Given the description of an element on the screen output the (x, y) to click on. 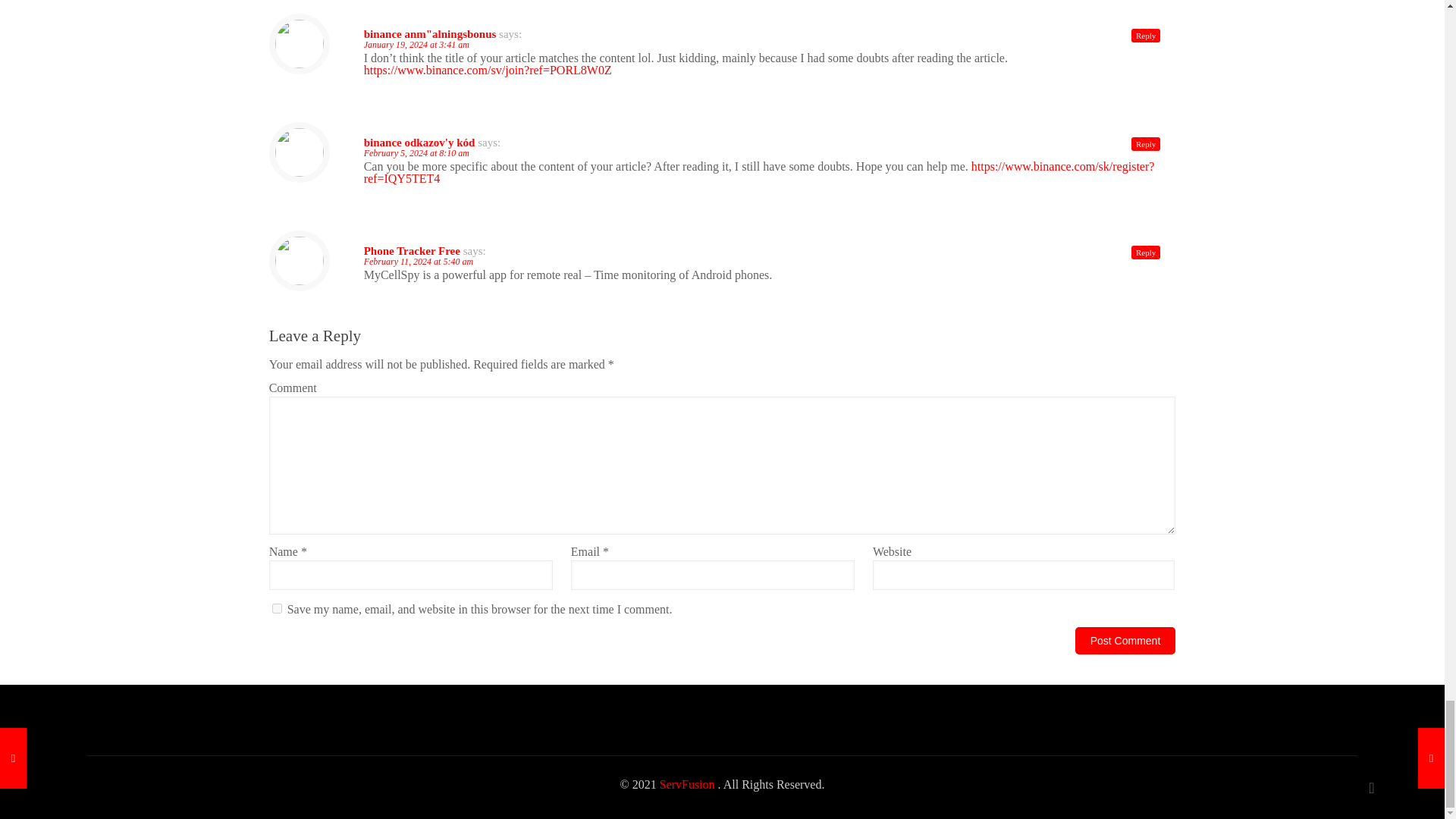
yes (277, 608)
Post Comment (1125, 640)
